Given the description of an element on the screen output the (x, y) to click on. 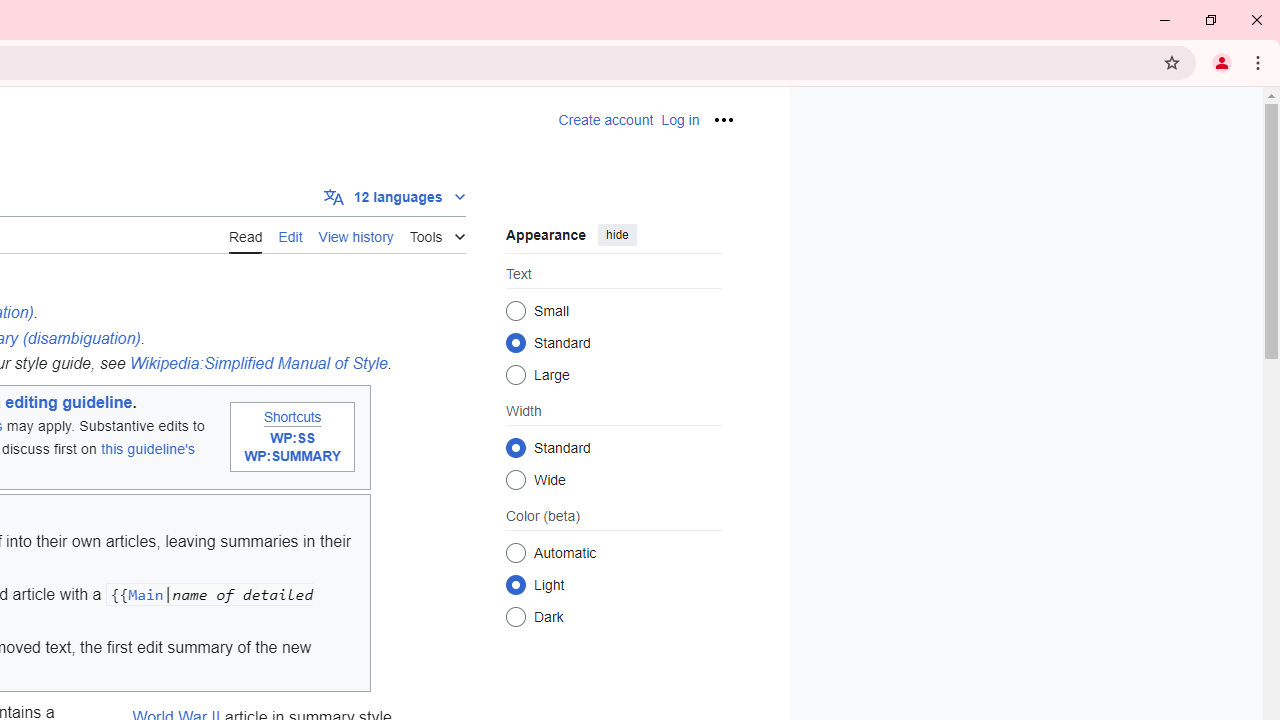
Log in (680, 120)
WP:SUMMARY (292, 455)
Wikipedia:Simplified Manual of Style (258, 363)
Small (515, 310)
Light (515, 583)
AutomationID: ca-edit (290, 234)
Standard (515, 447)
Personal tools (722, 119)
editing guideline (69, 402)
AutomationID: pt-createaccount-2 (606, 120)
